Given the description of an element on the screen output the (x, y) to click on. 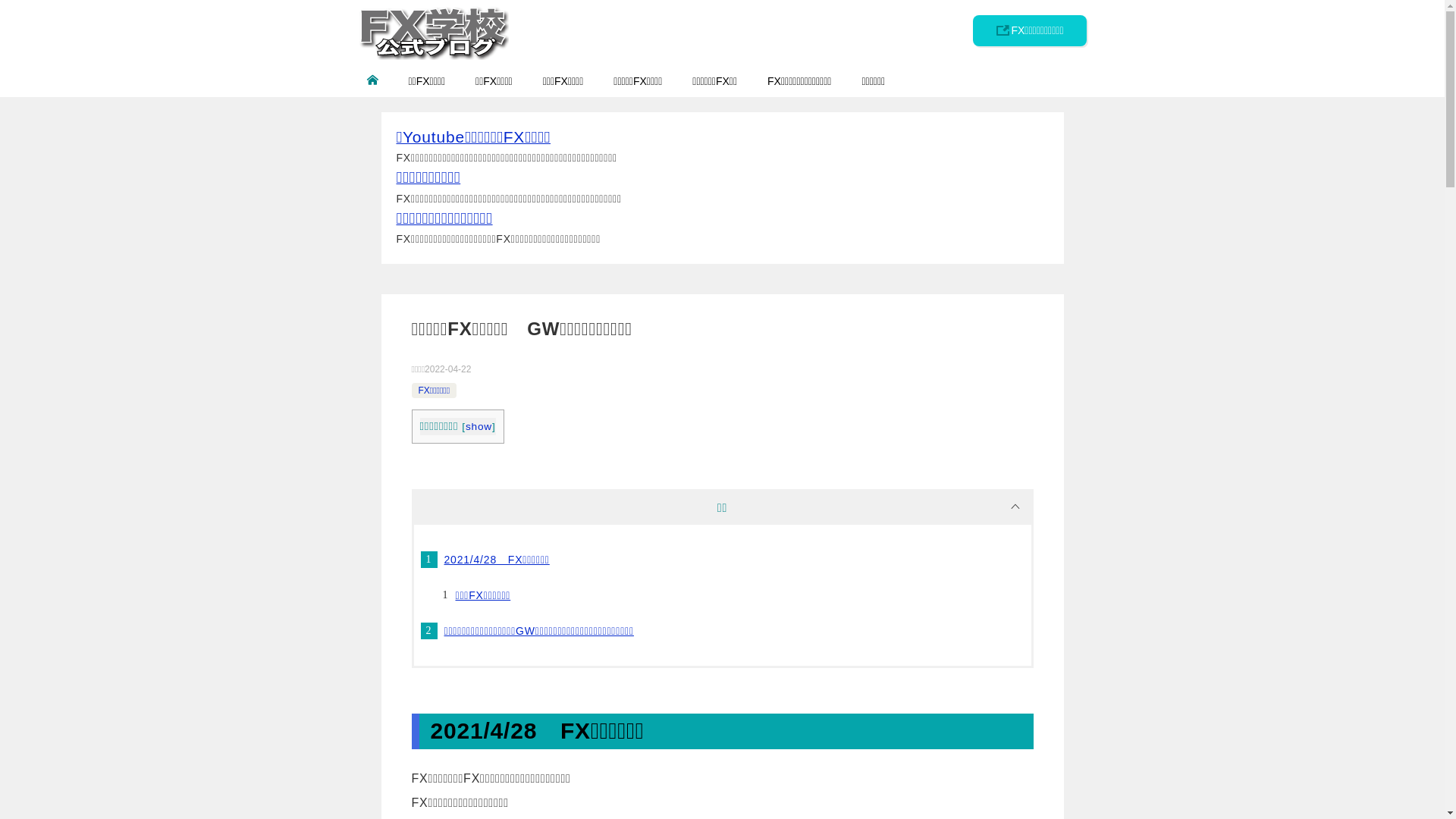
show Element type: text (478, 426)
